Given the description of an element on the screen output the (x, y) to click on. 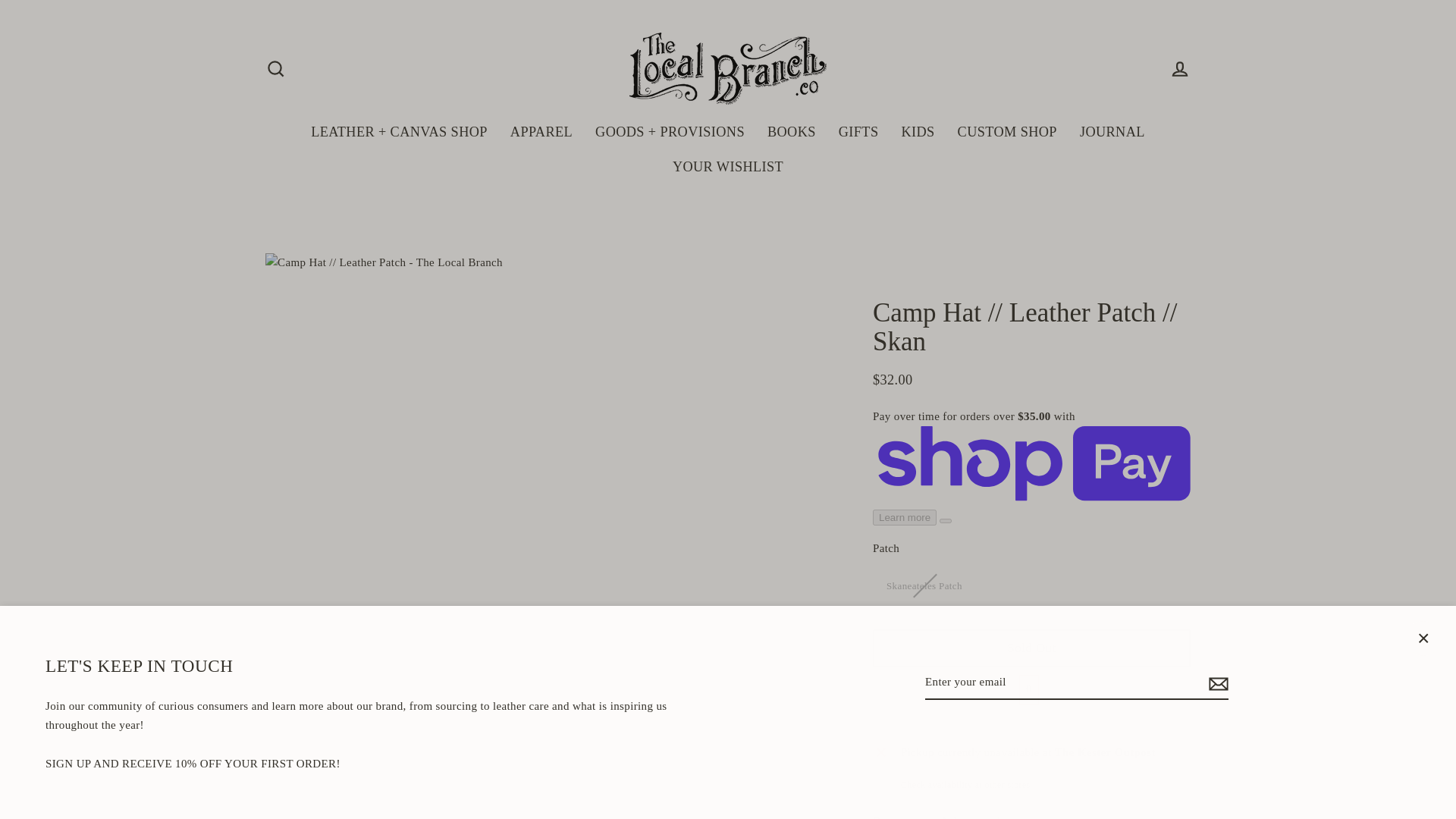
Subscribe (1216, 683)
